Given the description of an element on the screen output the (x, y) to click on. 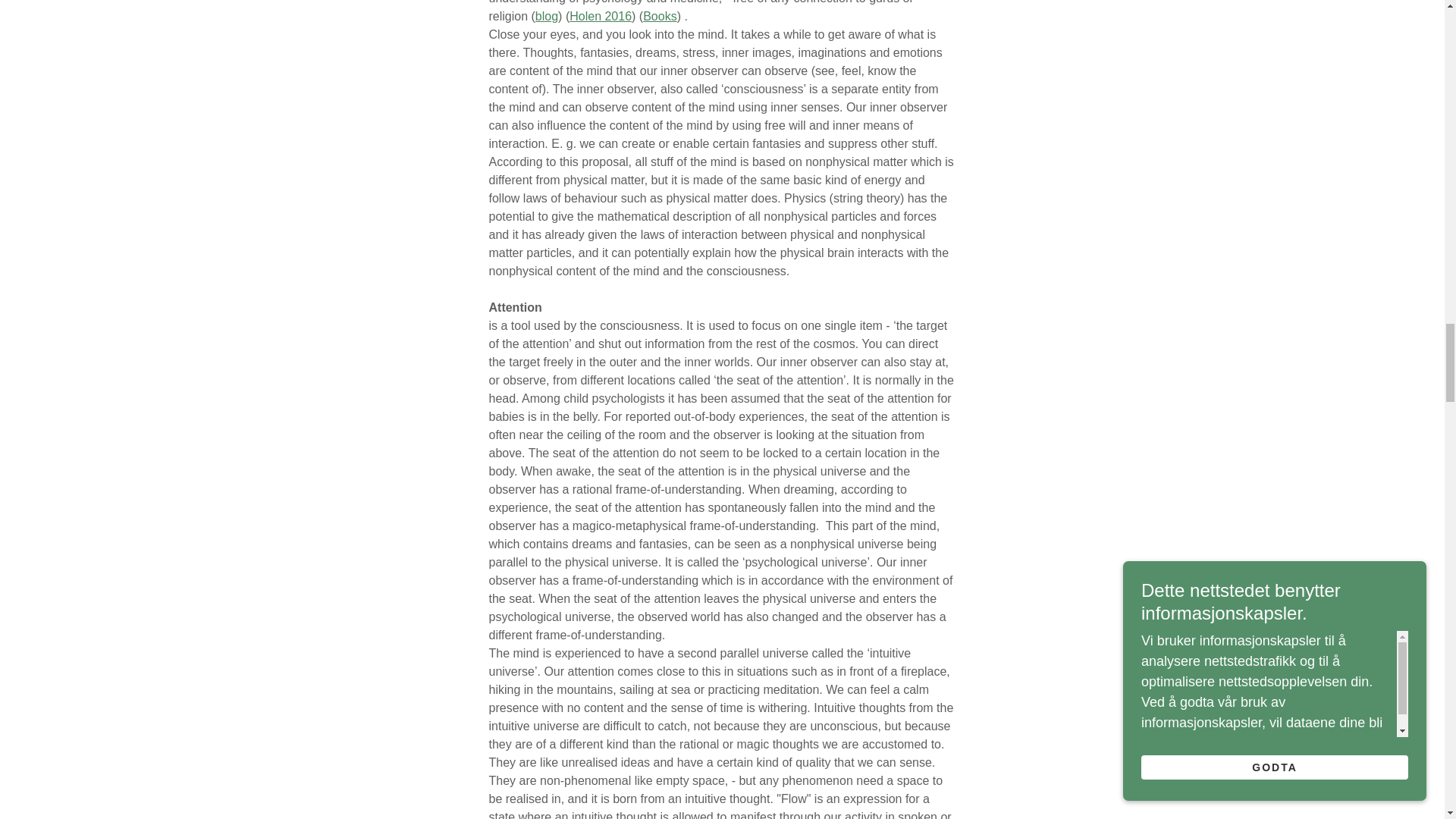
Books (660, 15)
blog (546, 15)
Holen 2016 (600, 15)
